Given the description of an element on the screen output the (x, y) to click on. 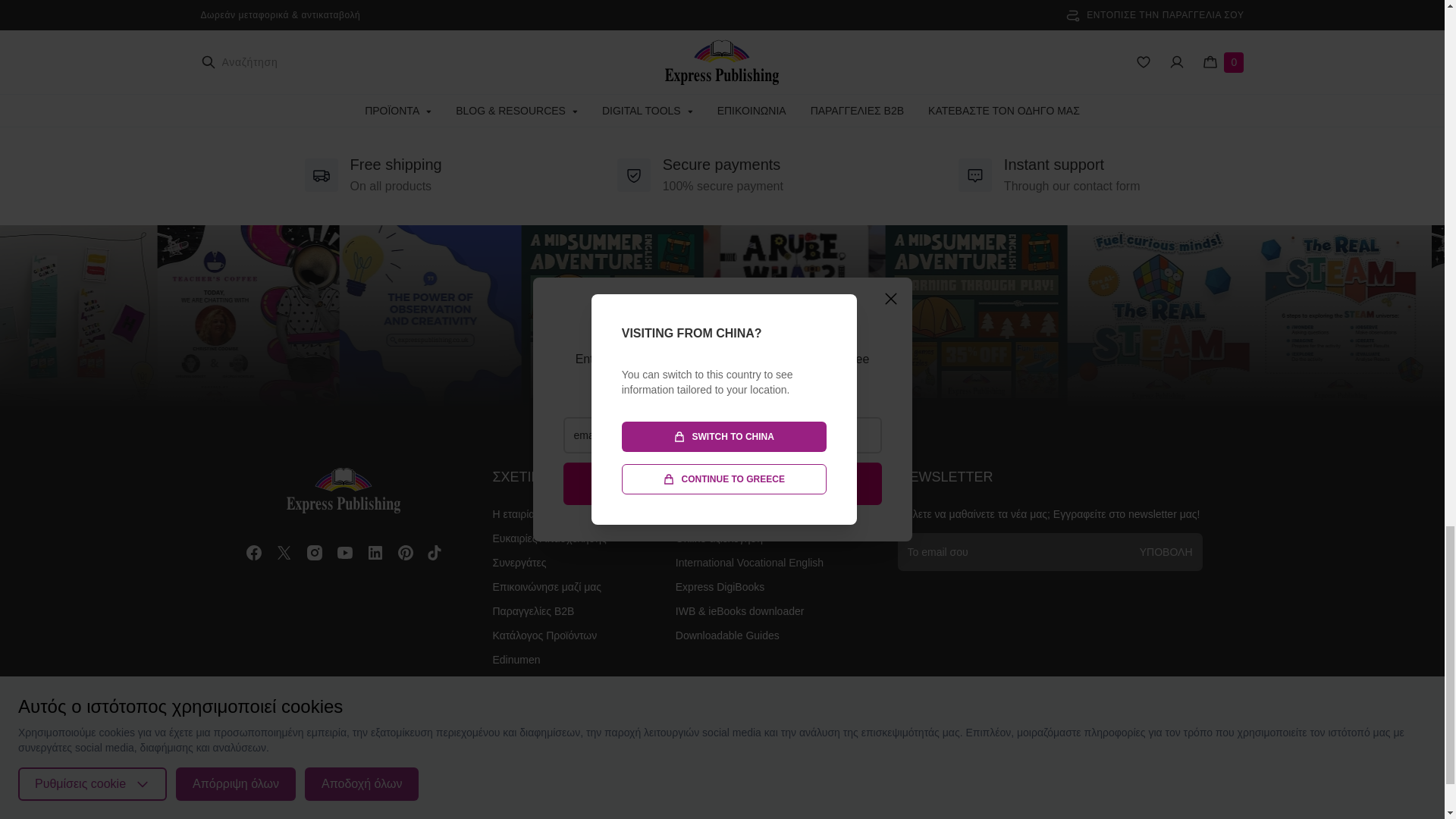
Facebook (253, 552)
Career Paths: Cinematography - Teacher's Guide (625, 39)
Express Publishing (343, 490)
Career Paths: Geology - Teacher's Guide (1012, 39)
X (283, 552)
Career Paths: Cinematography - DIGIBOOKS APPLICATION ONLY (430, 39)
Career Paths: Cinematography - Teacher's Pack (819, 39)
Follow us on Instagram (722, 316)
